Given the description of an element on the screen output the (x, y) to click on. 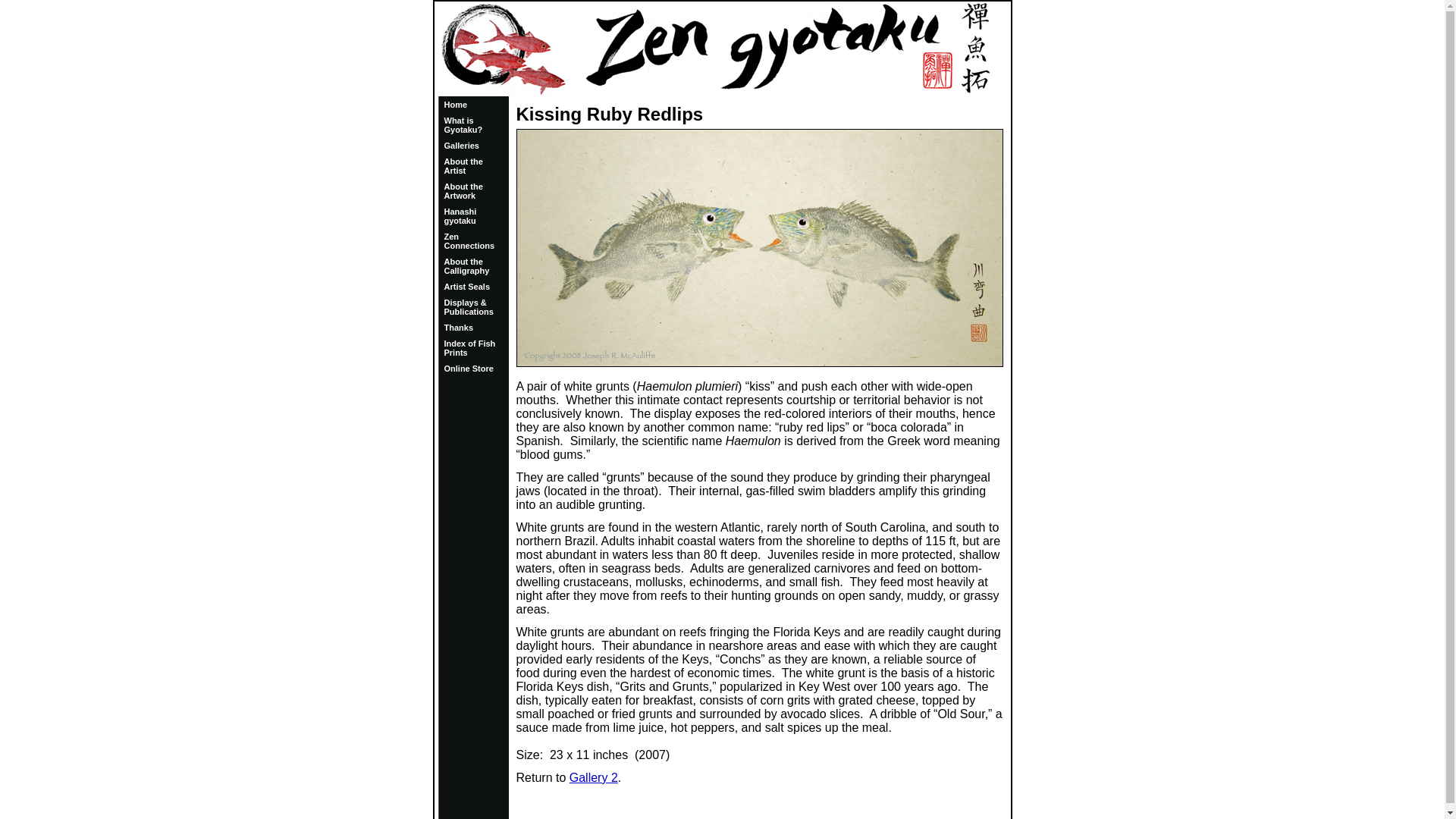
Index of Fish Prints (470, 348)
Artist Seals (467, 286)
About the Artwork (463, 190)
Online Store (468, 368)
Gallery 2 (593, 777)
About the Calligraphy (466, 266)
About the Artist (463, 166)
Galleries (461, 144)
What is Gyotaku? (463, 125)
Home (455, 103)
Zen Connections (469, 240)
Hanashi gyotaku (460, 216)
Thanks (459, 327)
